Given the description of an element on the screen output the (x, y) to click on. 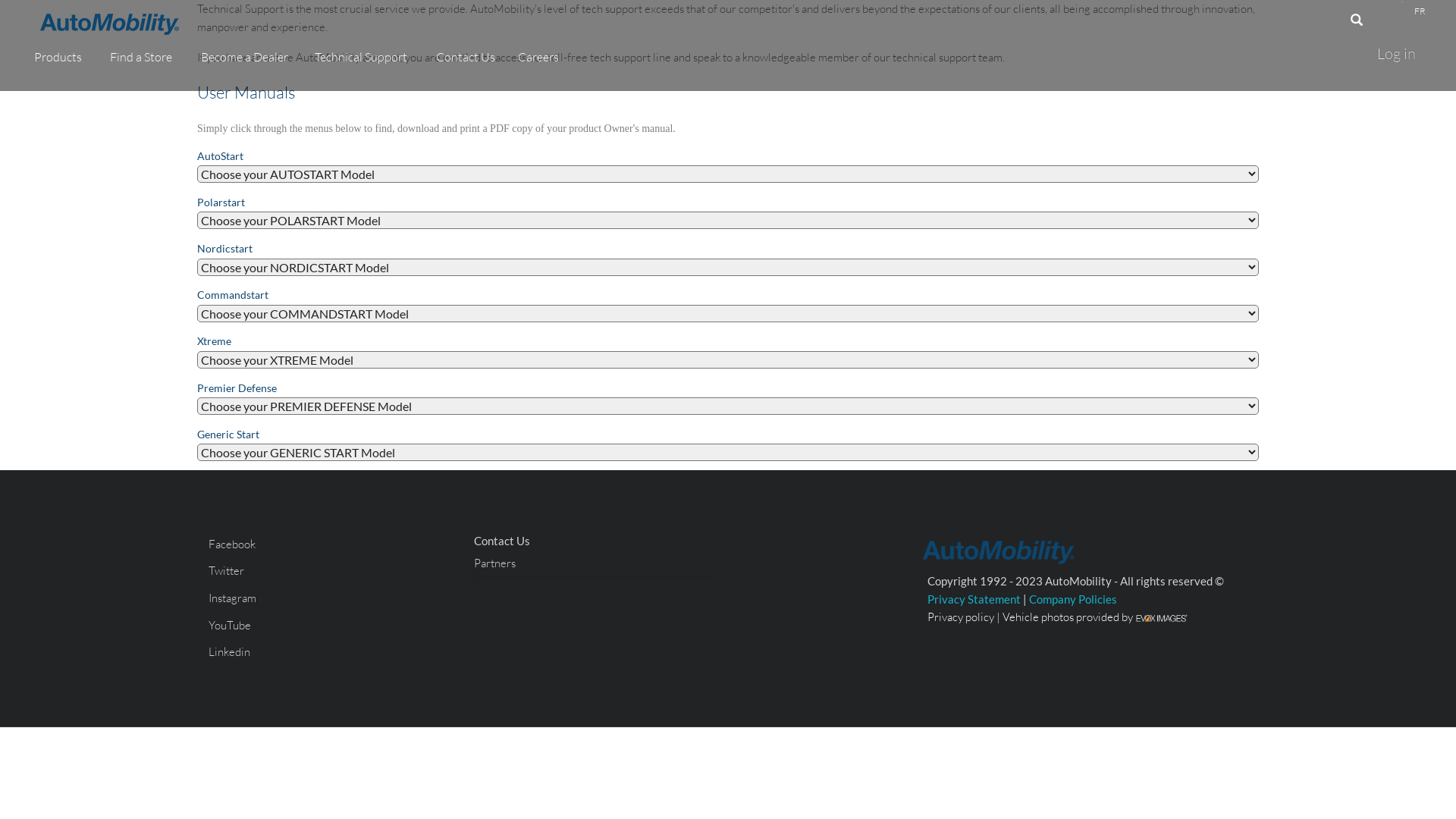
FR Element type: text (1419, 10)
Facebook Element type: text (231, 543)
Contact Us Element type: text (501, 540)
Find a Store Element type: text (143, 56)
Become a Dealer Element type: text (246, 56)
Company Policies Element type: text (1073, 598)
Contact Us Element type: text (465, 56)
Technical Support Element type: text (363, 56)
Log in Element type: text (1396, 53)
Products Element type: text (60, 56)
Instagram Element type: text (232, 597)
Twitter Element type: text (226, 570)
YouTube Element type: text (229, 625)
Linkedin Element type: text (229, 651)
Careers Element type: text (538, 56)
Privacy Statement Element type: text (973, 598)
Partners Element type: text (494, 562)
